Given the description of an element on the screen output the (x, y) to click on. 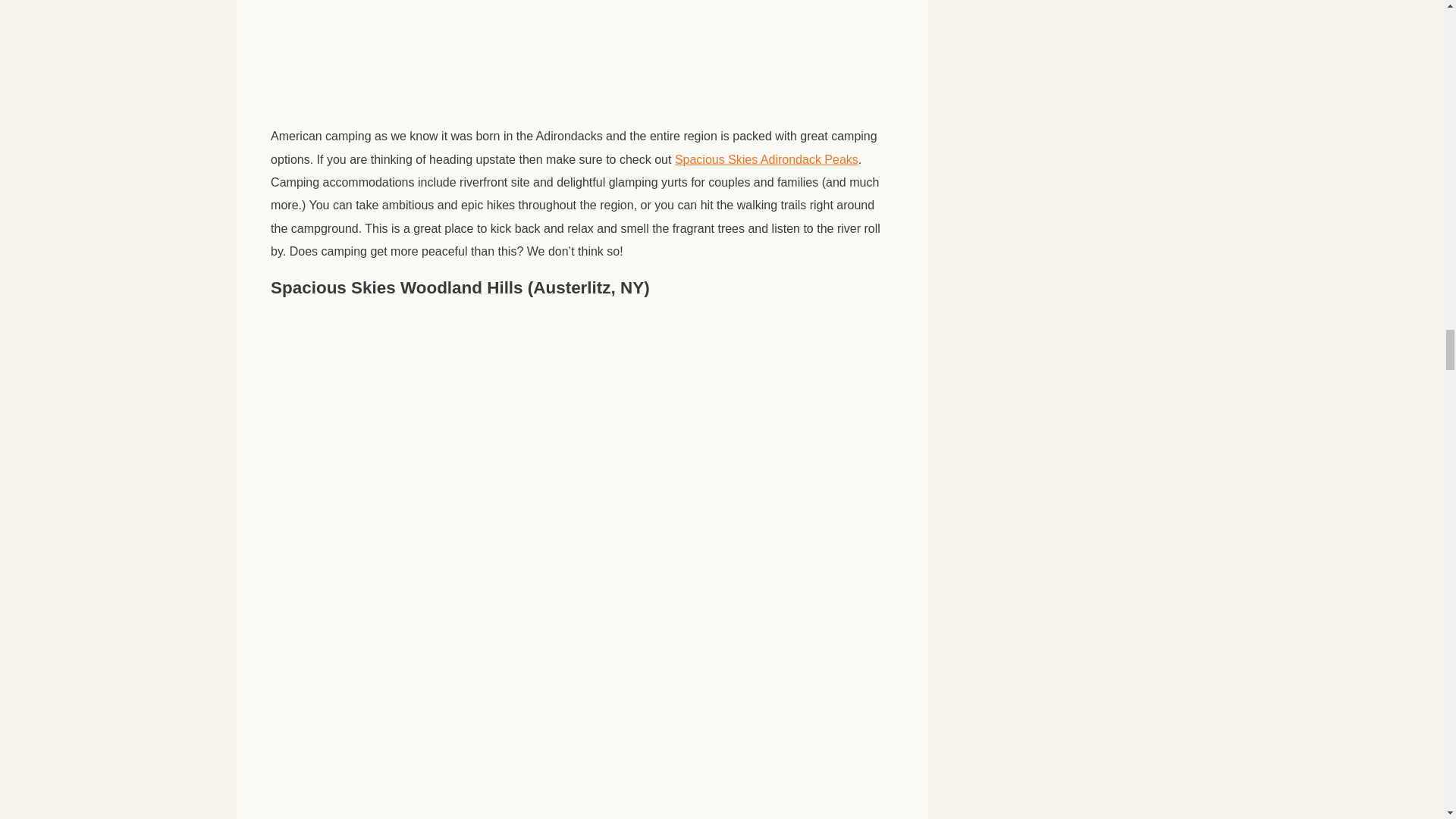
Spacious Skies Adirondack Peaks (767, 159)
